Given the description of an element on the screen output the (x, y) to click on. 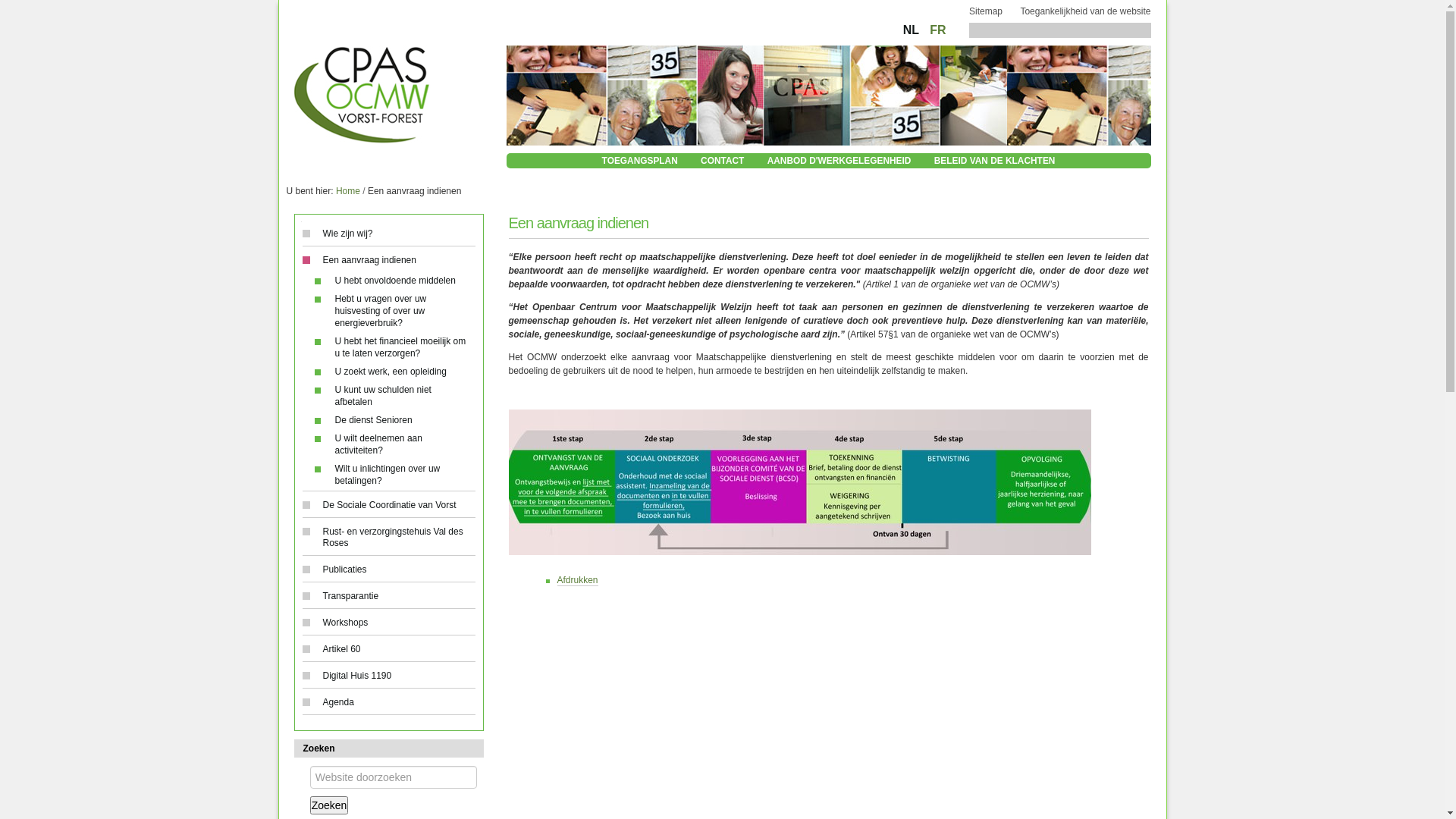
Rust- en verzorgingstehuis Val des Roses Element type: text (387, 537)
AANBOD D'WERKGELEGENHEID Element type: text (839, 160)
Zoeken Element type: text (329, 805)
Home Element type: text (347, 190)
CONTACT Element type: text (721, 160)
Workshops Element type: text (387, 622)
Transparantie Element type: text (387, 596)
Wilt u inlichtingen over uw betalingen? Element type: text (391, 474)
U hebt onvoldoende middelen Element type: text (391, 280)
Navigatie Element type: text (301, 226)
Agenda Element type: text (387, 702)
Afdrukken Element type: text (576, 580)
TOEGANGSPLAN Element type: text (639, 160)
Wie zijn wij? Element type: text (387, 233)
Zoeken Element type: hover (393, 776)
Toegankelijkheid van de website Element type: text (1084, 11)
De Sociale Coordinatie van Vorst Element type: text (387, 505)
Sitemap Element type: text (985, 11)
Artikel 60 Element type: text (387, 649)
Een aanvraag indienen Element type: text (392, 260)
Zoeken Element type: text (388, 748)
U hebt het financieel moeilijk om u te laten verzorgen? Element type: text (391, 347)
Digital Huis 1190 Element type: text (387, 676)
U wilt deelnemen aan activiteiten? Element type: text (391, 444)
Publicaties Element type: text (387, 569)
NL Element type: text (912, 29)
U zoekt werk, een opleiding Element type: text (391, 371)
De dienst Senioren Element type: text (391, 420)
FR Element type: text (937, 29)
U kunt uw schulden niet afbetalen Element type: text (391, 395)
BELEID VAN DE KLACHTEN Element type: text (994, 160)
